Given the description of an element on the screen output the (x, y) to click on. 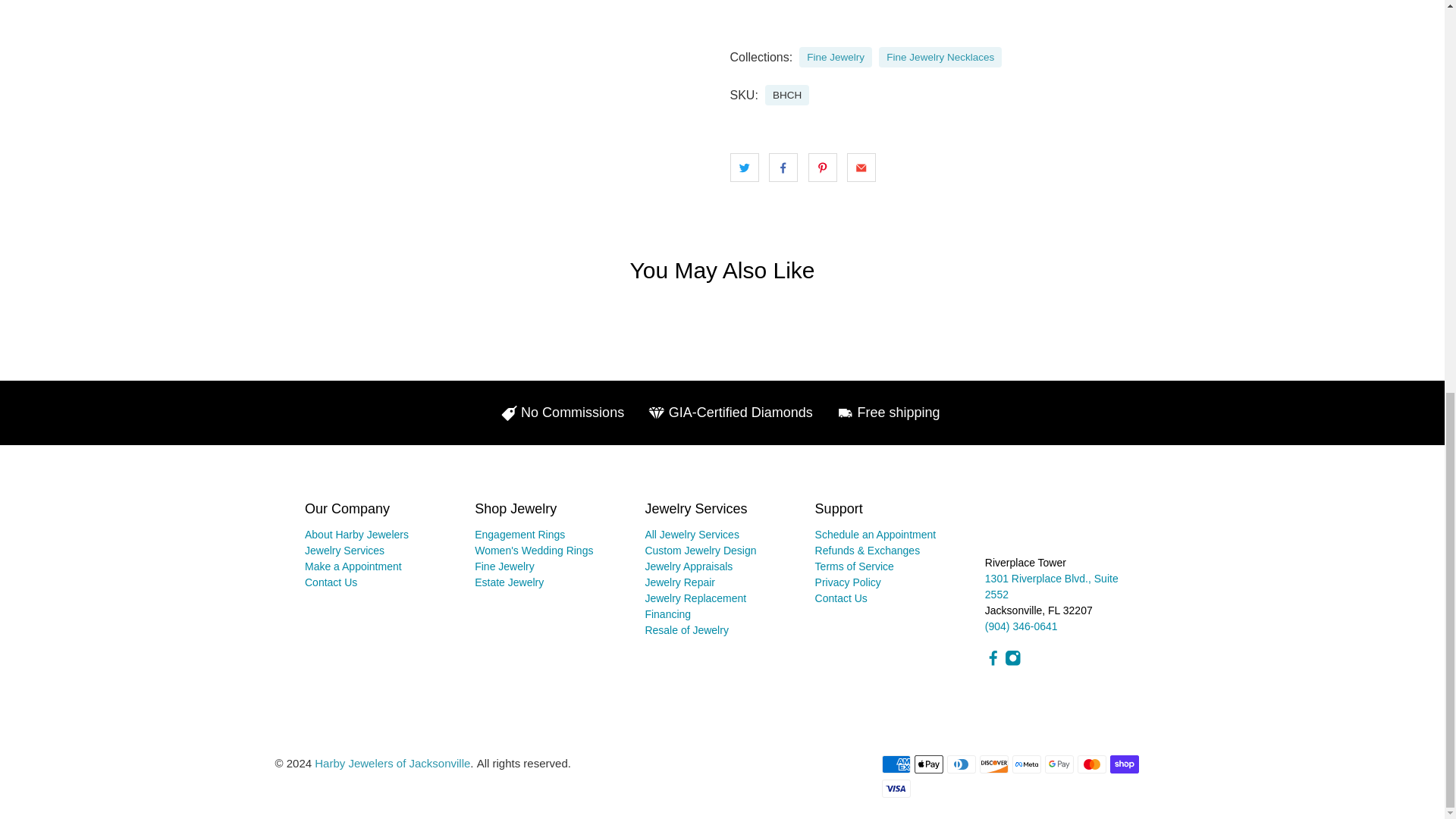
Share this on Twitter (743, 167)
Fine Jewelry Necklaces (940, 57)
Email this to a friend (861, 167)
Share this on Facebook (782, 167)
Google Pay (1059, 764)
Share this on Pinterest (822, 167)
Harby Jewelers of Jacksonville on Instagram (1013, 662)
Diners Club (961, 764)
Harby Jewelers of Jacksonville on Facebook (993, 662)
Meta Pay (1026, 764)
Harby Jewelers of Jacksonville (1046, 526)
Apple Pay (928, 764)
American Express (895, 764)
Fine Jewelry (835, 57)
Discover (994, 764)
